Given the description of an element on the screen output the (x, y) to click on. 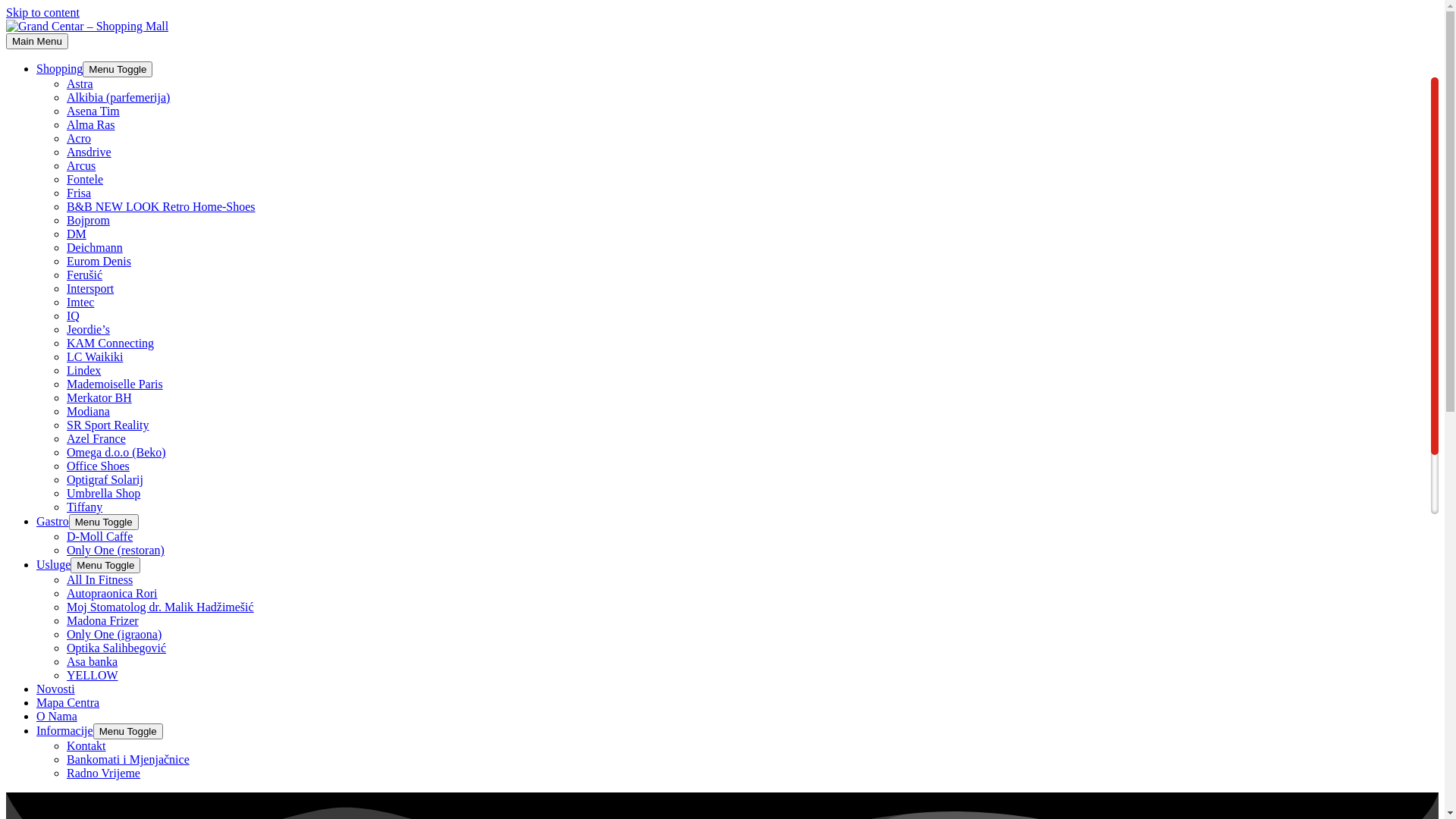
Ansdrive Element type: text (88, 151)
Novosti Element type: text (55, 688)
Office Shoes Element type: text (97, 465)
Main Menu Element type: text (37, 41)
Sport Vision Element type: text (96, 520)
Menu Toggle Element type: text (128, 731)
DM Element type: text (76, 233)
Modiana Element type: text (87, 410)
Radno Vrijeme Element type: text (103, 772)
Asa banka Element type: text (91, 661)
Wizard Element type: text (83, 561)
Only One (restoran) Element type: text (115, 549)
Arcus Element type: text (80, 165)
YELLOW Element type: text (92, 674)
TR Chic Element type: text (87, 533)
Shopping Element type: text (59, 68)
Imtec Element type: text (80, 301)
SR Sport Reality Element type: text (107, 424)
Optigraf Solarij Element type: text (104, 479)
Gastro Element type: text (52, 520)
Wenice Element type: text (84, 574)
LC Waikiki Element type: text (94, 356)
Bojprom Element type: text (87, 219)
Kontakt Element type: text (86, 745)
Omega d.o.o (Beko) Element type: text (116, 451)
Astra Element type: text (79, 83)
Eurom Denis Element type: text (98, 260)
O Nama Element type: text (56, 715)
Menu Toggle Element type: text (103, 522)
Acro Element type: text (78, 137)
Frisa Element type: text (78, 192)
B&B NEW LOOK Retro Home-Shoes Element type: text (160, 206)
Azel France Element type: text (95, 438)
IQ Element type: text (72, 315)
Menu Toggle Element type: text (105, 565)
Skip to content Element type: text (42, 12)
Mademoiselle Paris Element type: text (114, 383)
Merkator BH Element type: text (98, 397)
Fontele Element type: text (84, 178)
Usluge Element type: text (53, 564)
Mapa Centra Element type: text (67, 702)
Informacije Element type: text (64, 730)
D-Moll Caffe Element type: text (99, 536)
Madona Frizer Element type: text (102, 620)
Only One (igraona) Element type: text (113, 633)
Umbrella Shop Element type: text (103, 492)
Autopraonica Rori Element type: text (111, 592)
All In Fitness Element type: text (99, 579)
Alkibia (parfemerija) Element type: text (117, 97)
Asena Tim Element type: text (92, 110)
Lindex Element type: text (83, 370)
Tiffany Element type: text (84, 506)
Menu Toggle Element type: text (117, 69)
KAM Connecting Element type: text (109, 342)
Deichmann Element type: text (94, 247)
Planika Flex Element type: text (96, 547)
Intersport Element type: text (89, 288)
Alma Ras Element type: text (90, 124)
